Given the description of an element on the screen output the (x, y) to click on. 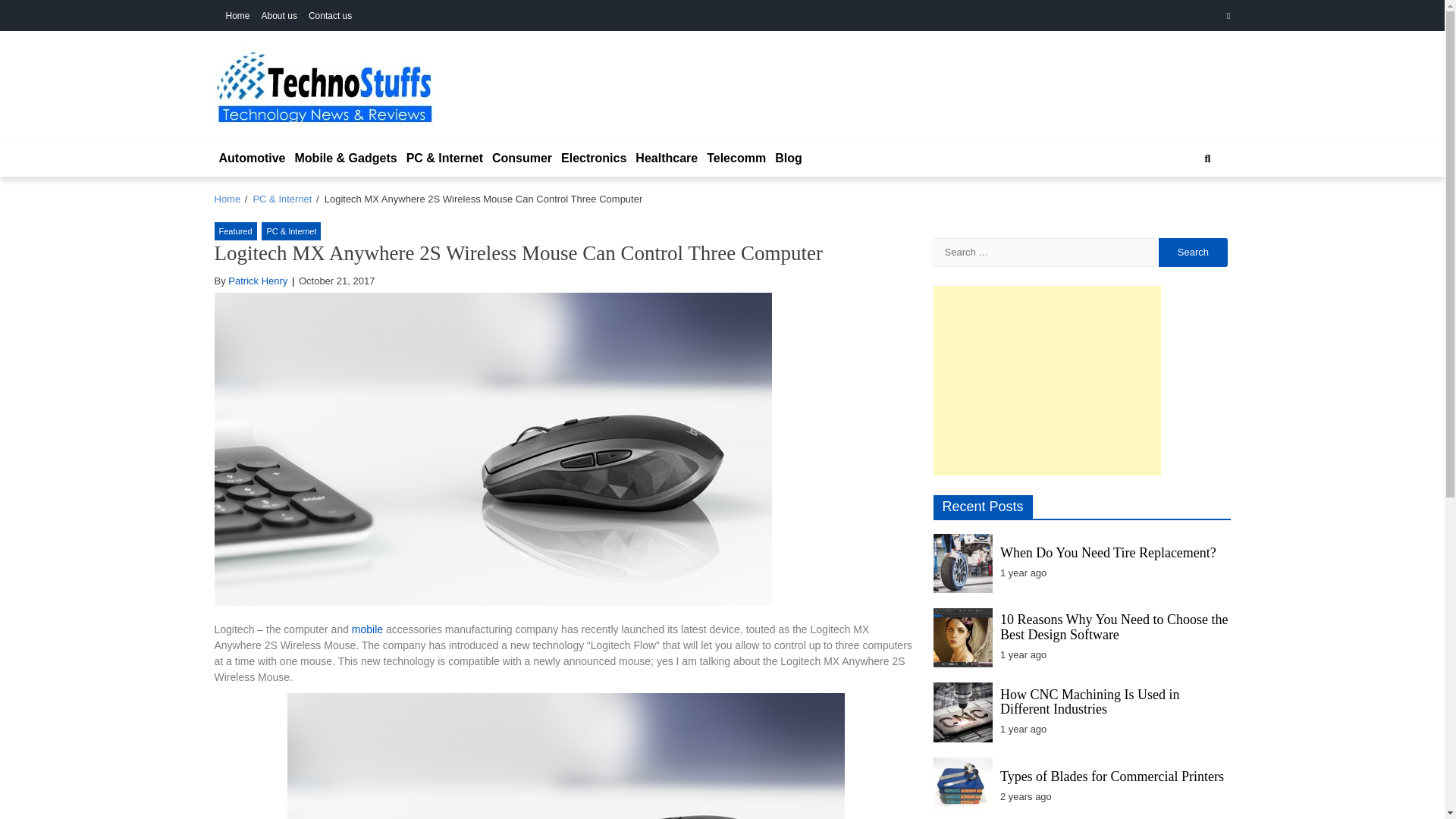
Consumer (521, 158)
Home (237, 15)
Search (1191, 209)
Search (1192, 252)
Electronics (593, 158)
10 Reasons Why You Need to Choose the Best Design Software (1114, 626)
Healthcare (665, 158)
Patrick Henry (257, 280)
mobile (367, 629)
Automotive (251, 158)
About us (279, 15)
Contact us (330, 15)
Featured (235, 230)
Blog (788, 158)
Home (227, 198)
